Given the description of an element on the screen output the (x, y) to click on. 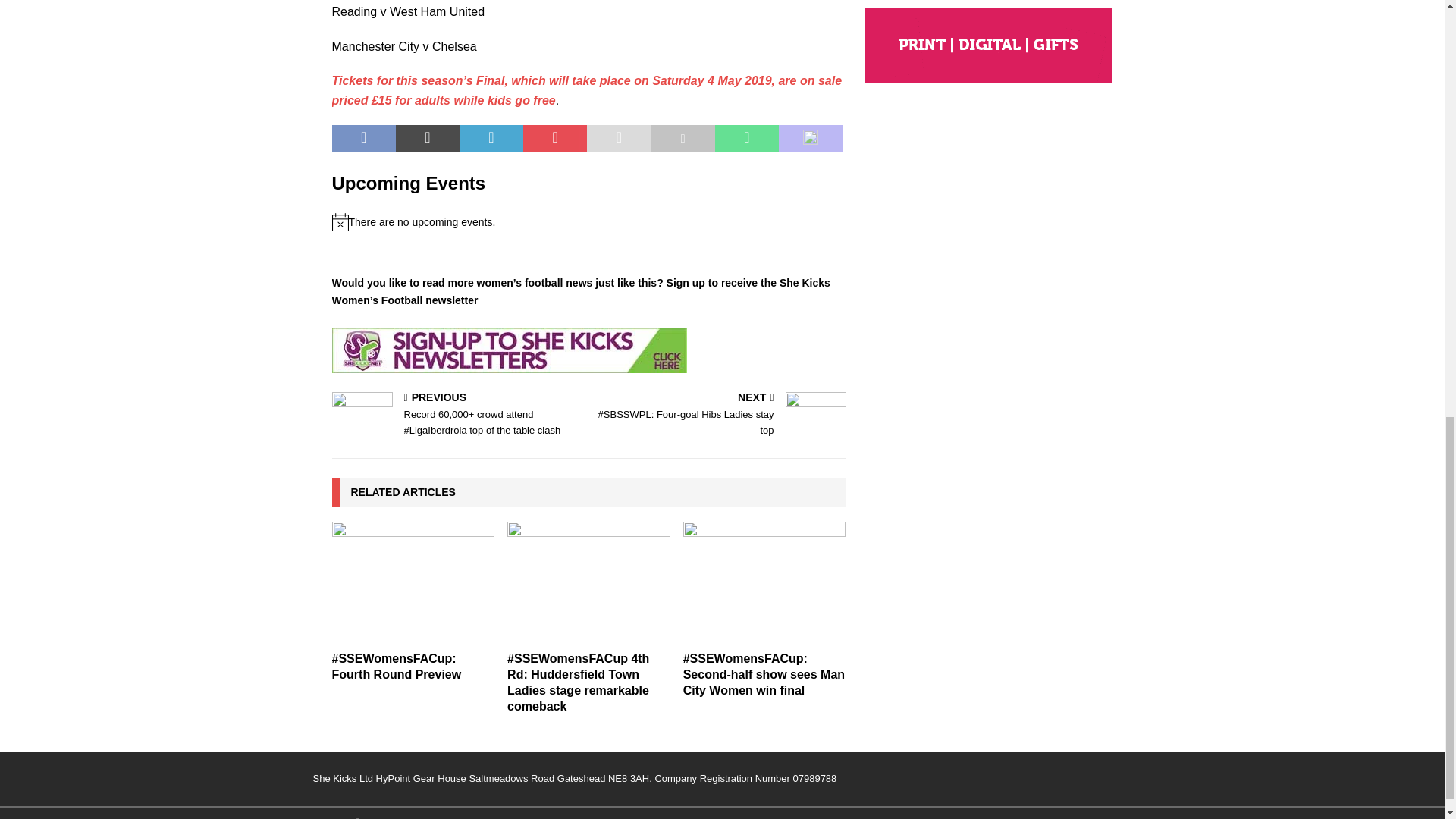
Pin This Post (554, 138)
Share on LinkedIn (491, 138)
Print this article (682, 138)
Tweet This Post (428, 138)
Share on Whatsapp (746, 138)
Send this article to a friend (618, 138)
Share on Facebook (363, 138)
Share On Mastodon (810, 138)
